Given the description of an element on the screen output the (x, y) to click on. 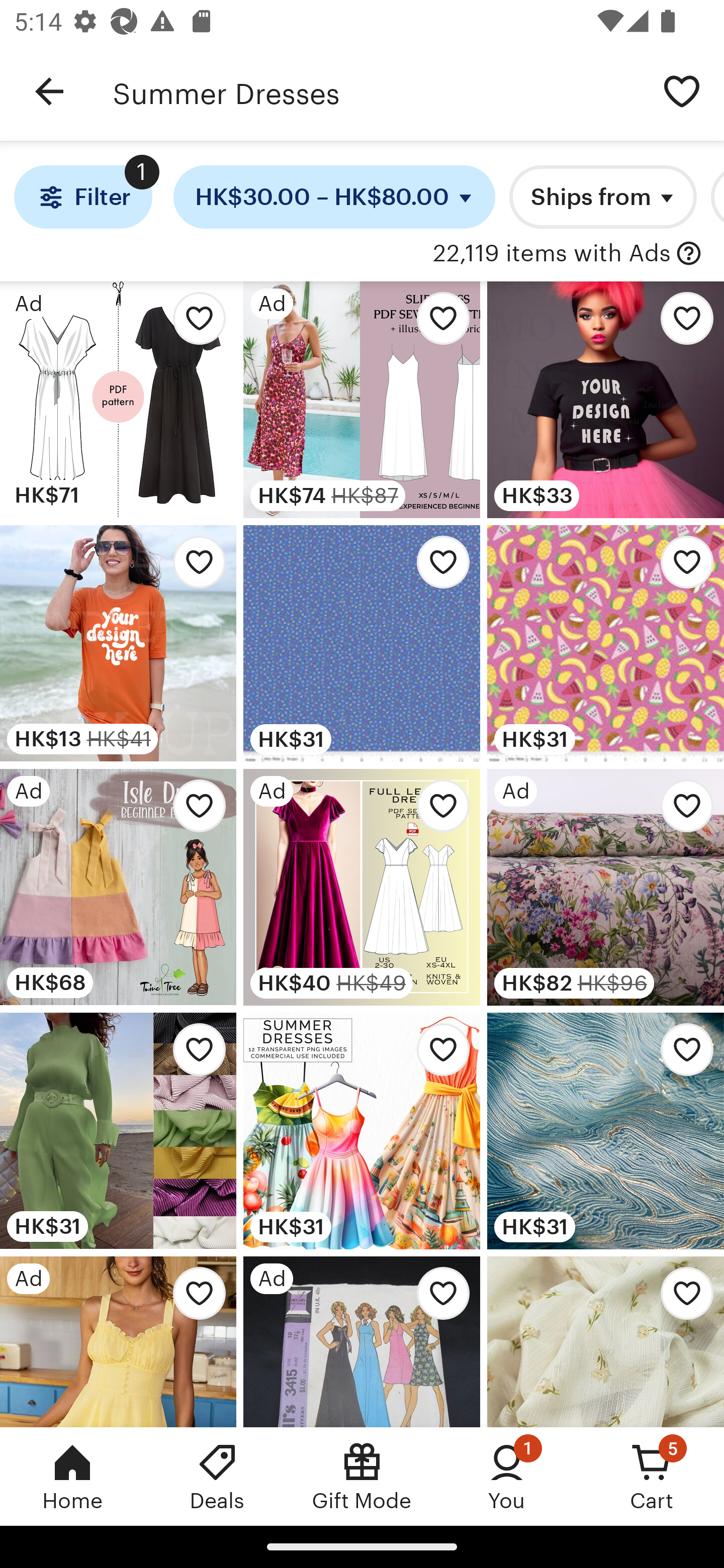
Navigate up (49, 91)
Save search (681, 90)
Summer Dresses (375, 91)
Filter (82, 197)
HK$30.00 – HK$80.00 (334, 197)
Ships from (602, 197)
22,119 items with Ads (551, 253)
with Ads (688, 253)
Add Yellow Spring Mini Dress to favorites (194, 1297)
Add McCall's Summer Dress Pattern to favorites (438, 1297)
Deals (216, 1475)
Gift Mode (361, 1475)
You, 1 new notification You (506, 1475)
Cart, 5 new notifications Cart (651, 1475)
